Given the description of an element on the screen output the (x, y) to click on. 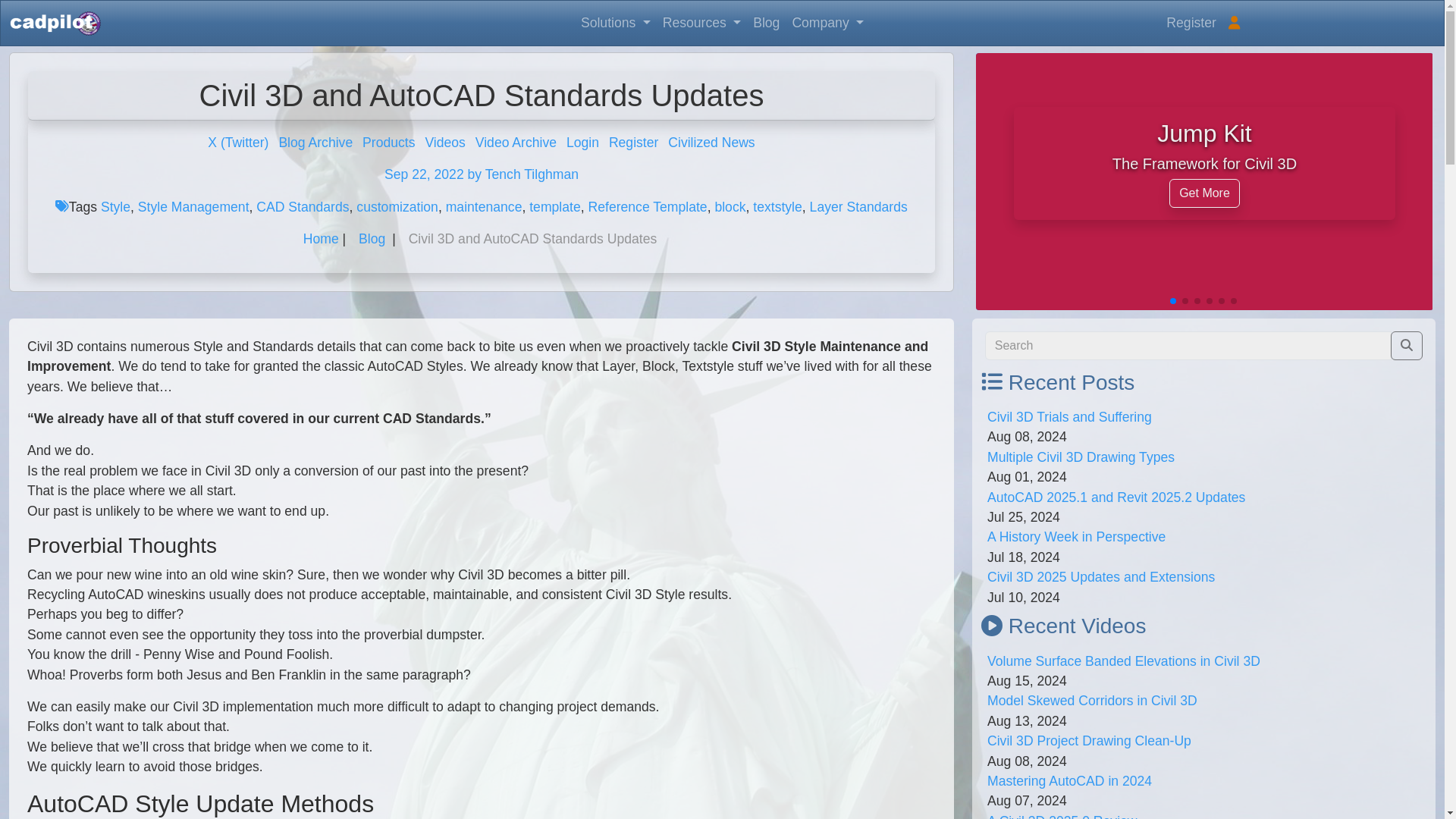
Videos (444, 142)
Solutions (615, 22)
Register (1191, 22)
Civilized News (711, 142)
Solutions (615, 22)
Products (388, 142)
Blog (766, 22)
Style (115, 206)
Tench Tilghman (531, 174)
Blog Archive (315, 142)
